Given the description of an element on the screen output the (x, y) to click on. 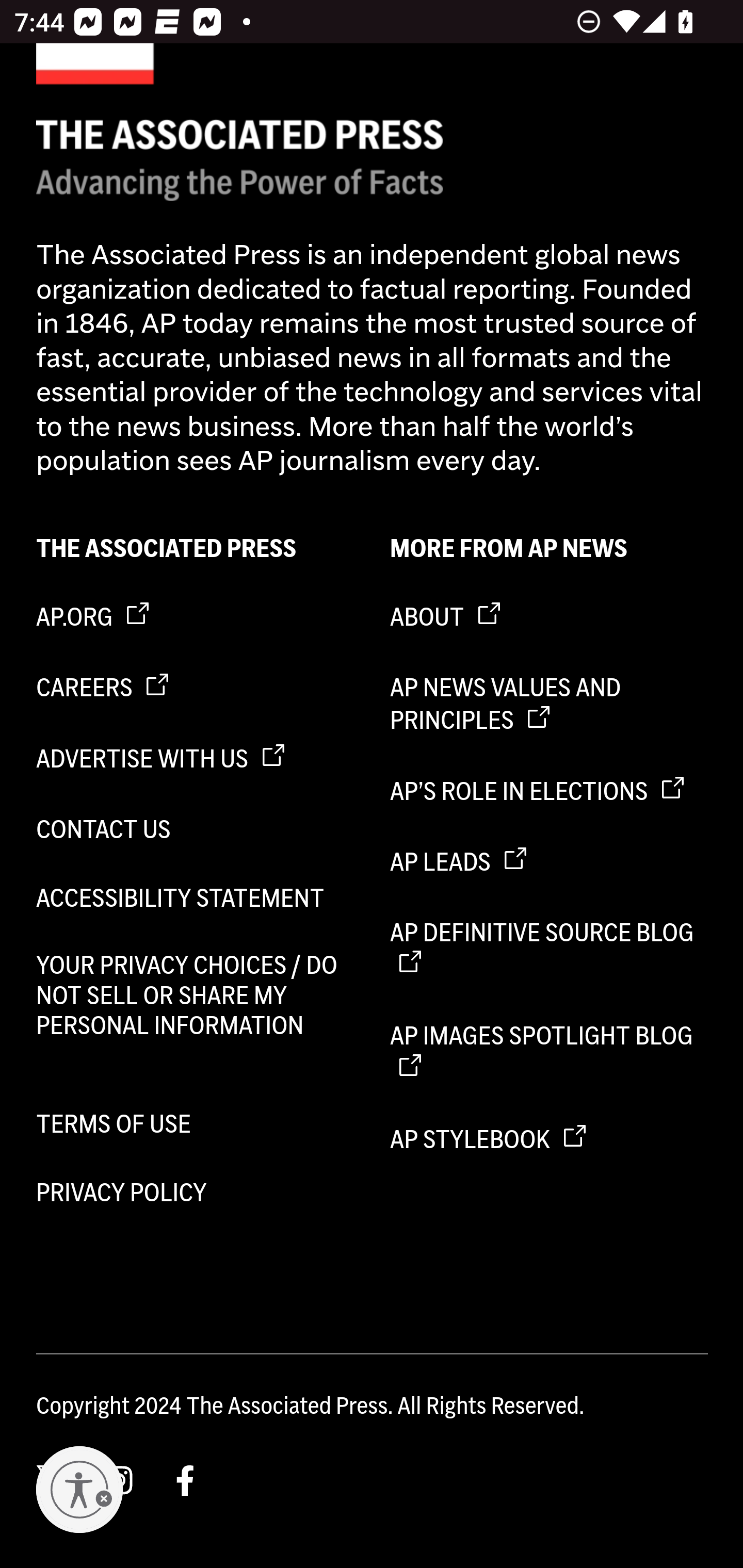
AP.ORG  (195, 616)
ABOUT  (549, 616)
CAREERS  (195, 688)
AP NEWS VALUES AND PRINCIPLES  (549, 704)
ADVERTISE WITH US  (195, 758)
AP’S ROLE IN ELECTIONS  (549, 791)
CONTACT US (195, 829)
AP LEADS  (549, 863)
ACCESSIBILITY STATEMENT (195, 898)
AP DEFINITIVE SOURCE BLOG  (549, 949)
AP IMAGES SPOTLIGHT BLOG  (549, 1052)
TERMS OF USE (195, 1124)
AP STYLEBOOK  (549, 1139)
PRIVACY POLICY (195, 1191)
Enable accessibility (79, 1490)
facebook (185, 1477)
